Given the description of an element on the screen output the (x, y) to click on. 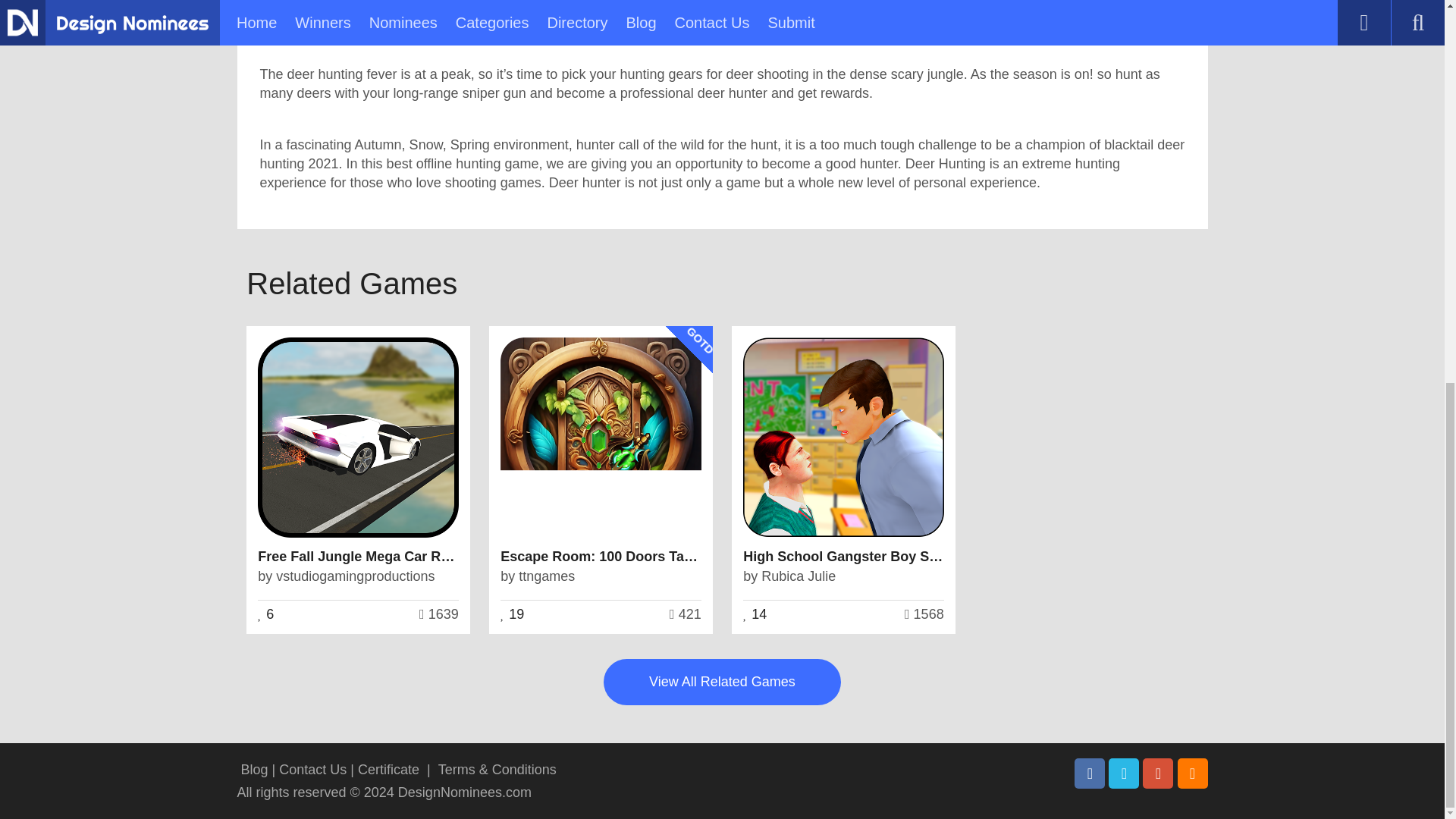
Rss (1191, 773)
Facebook (1089, 773)
Twitter (1123, 773)
Pinterest (1157, 773)
